Given the description of an element on the screen output the (x, y) to click on. 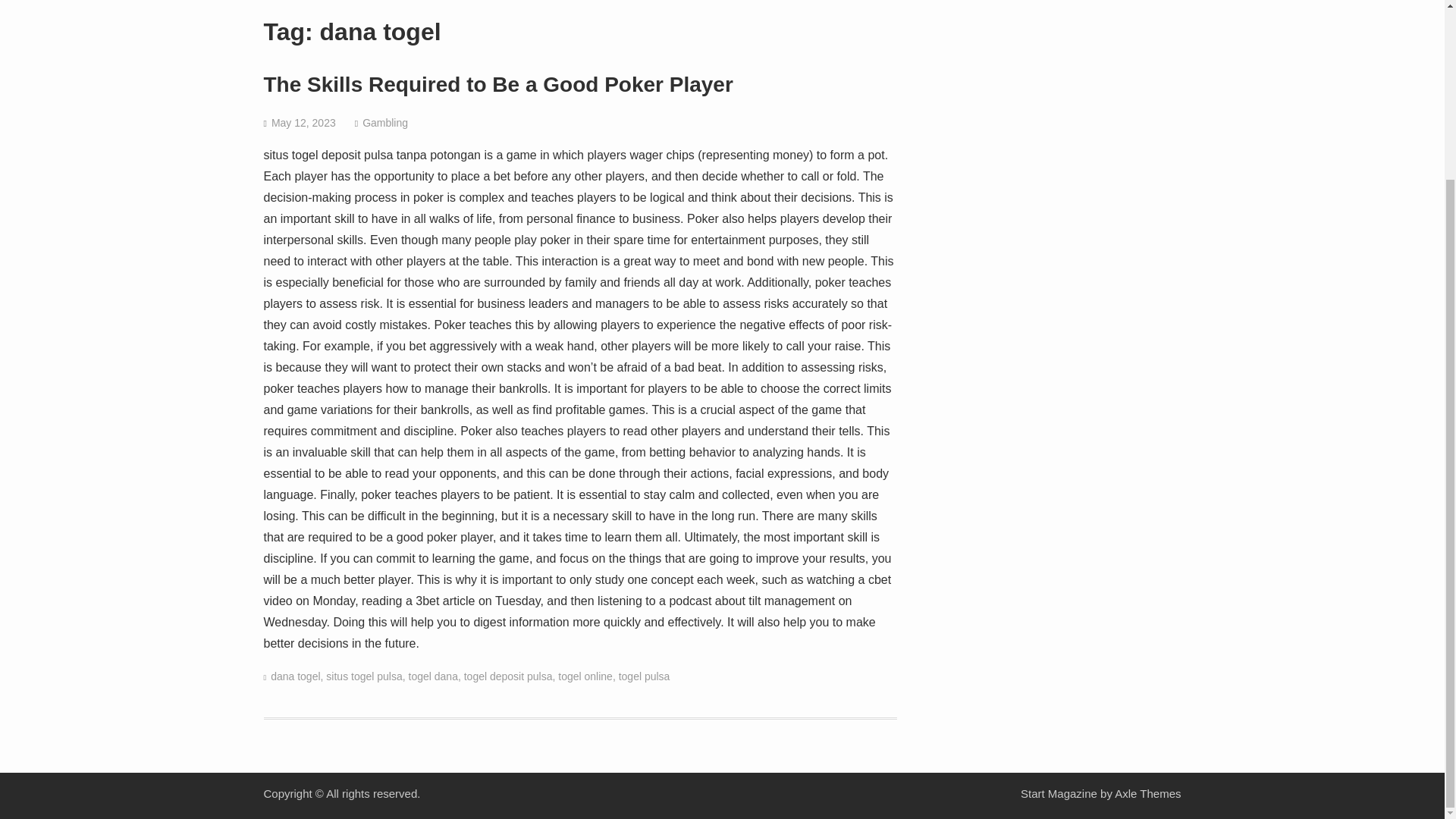
togel dana (433, 676)
Axle Themes (1147, 793)
situs togel pulsa (363, 676)
dana togel (295, 676)
The Skills Required to Be a Good Poker Player (498, 84)
togel pulsa (643, 676)
Gambling (384, 122)
togel online (584, 676)
togel deposit pulsa (508, 676)
May 12, 2023 (303, 122)
